Given the description of an element on the screen output the (x, y) to click on. 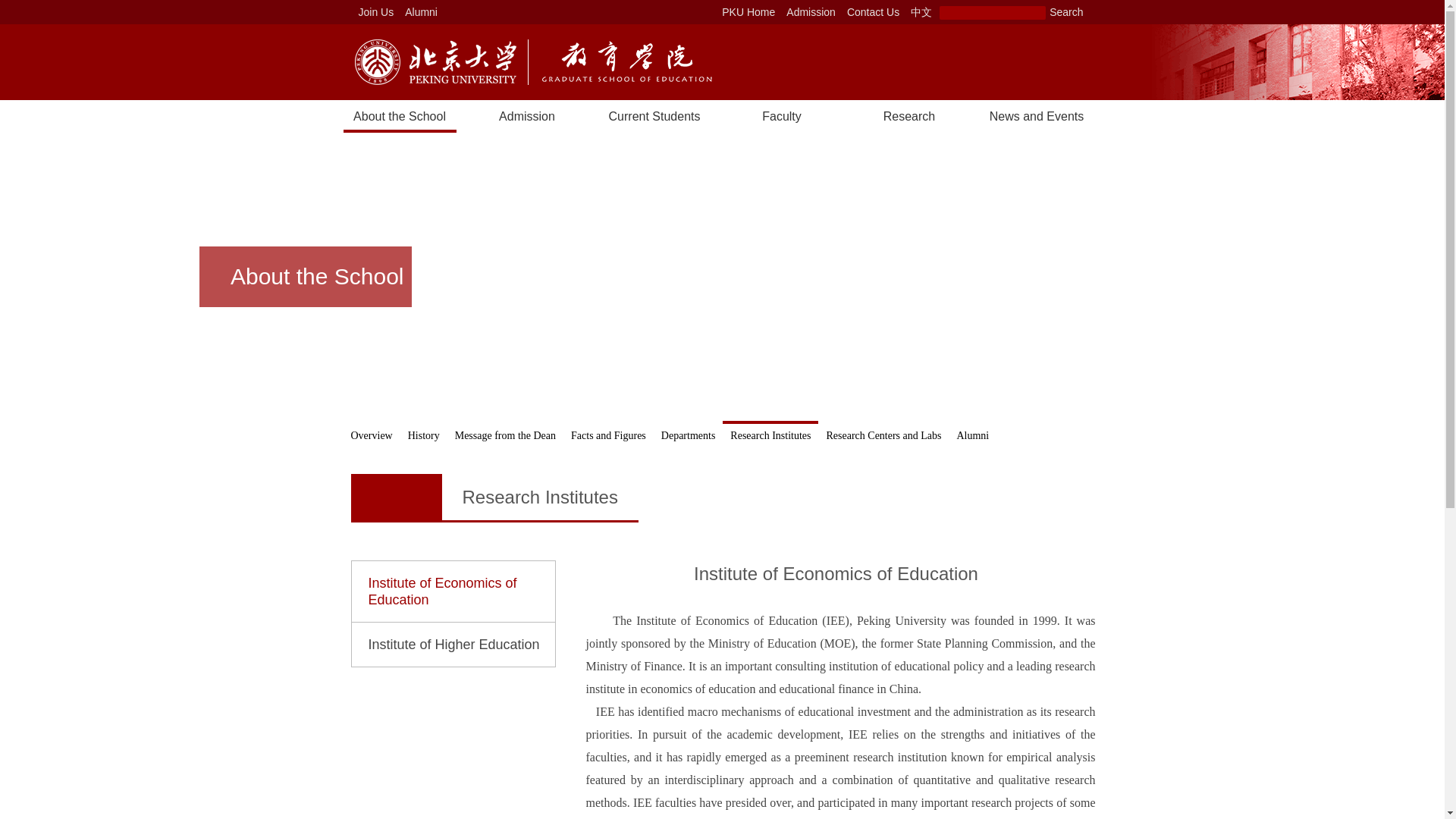
About the School (398, 115)
PKU Home (747, 11)
Admission (811, 11)
Contact Us (872, 11)
Current Students (653, 115)
Admission (526, 115)
Join Us (376, 11)
Alumni (421, 11)
